Given the description of an element on the screen output the (x, y) to click on. 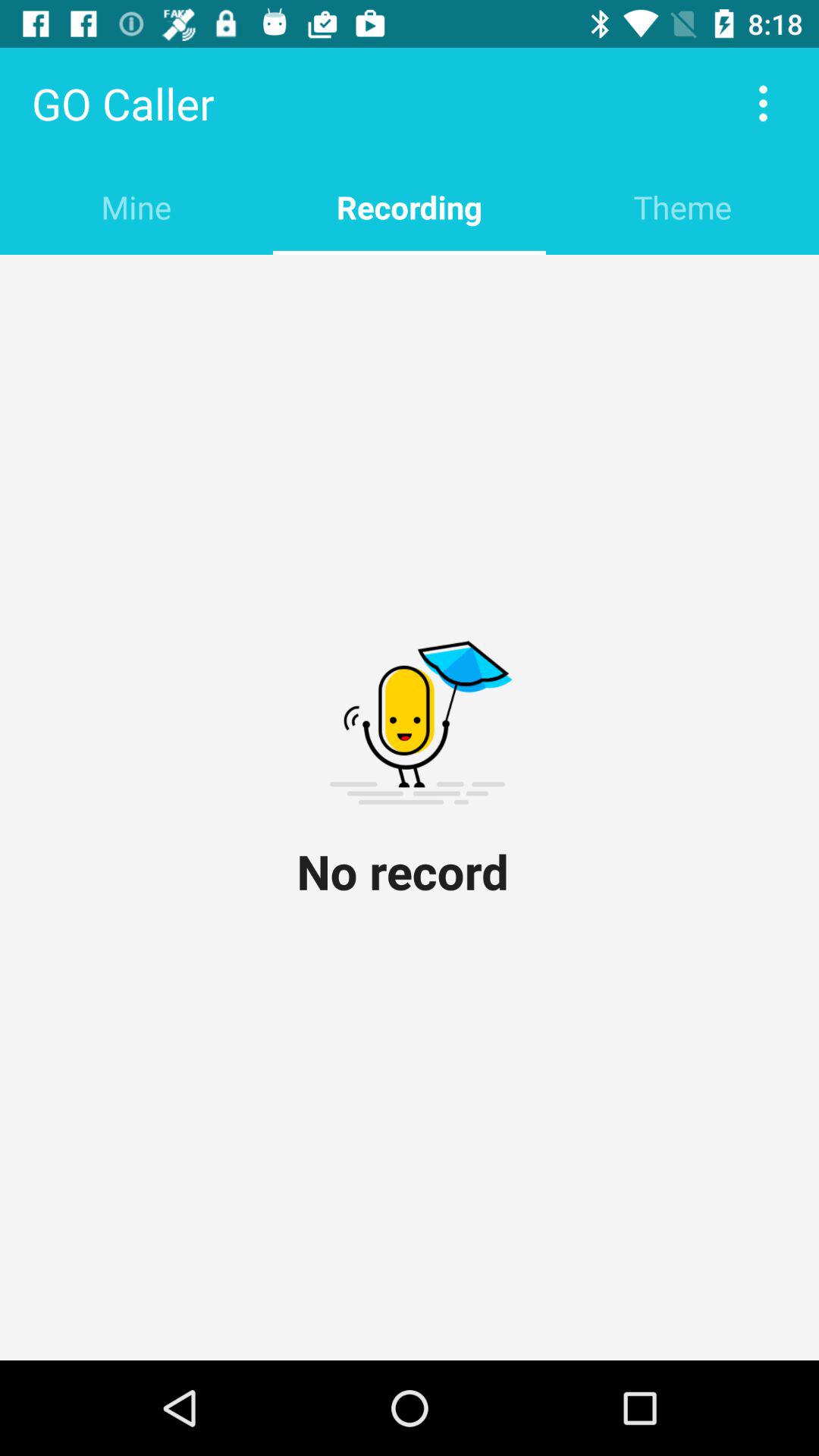
choose the item next to recording item (136, 206)
